Given the description of an element on the screen output the (x, y) to click on. 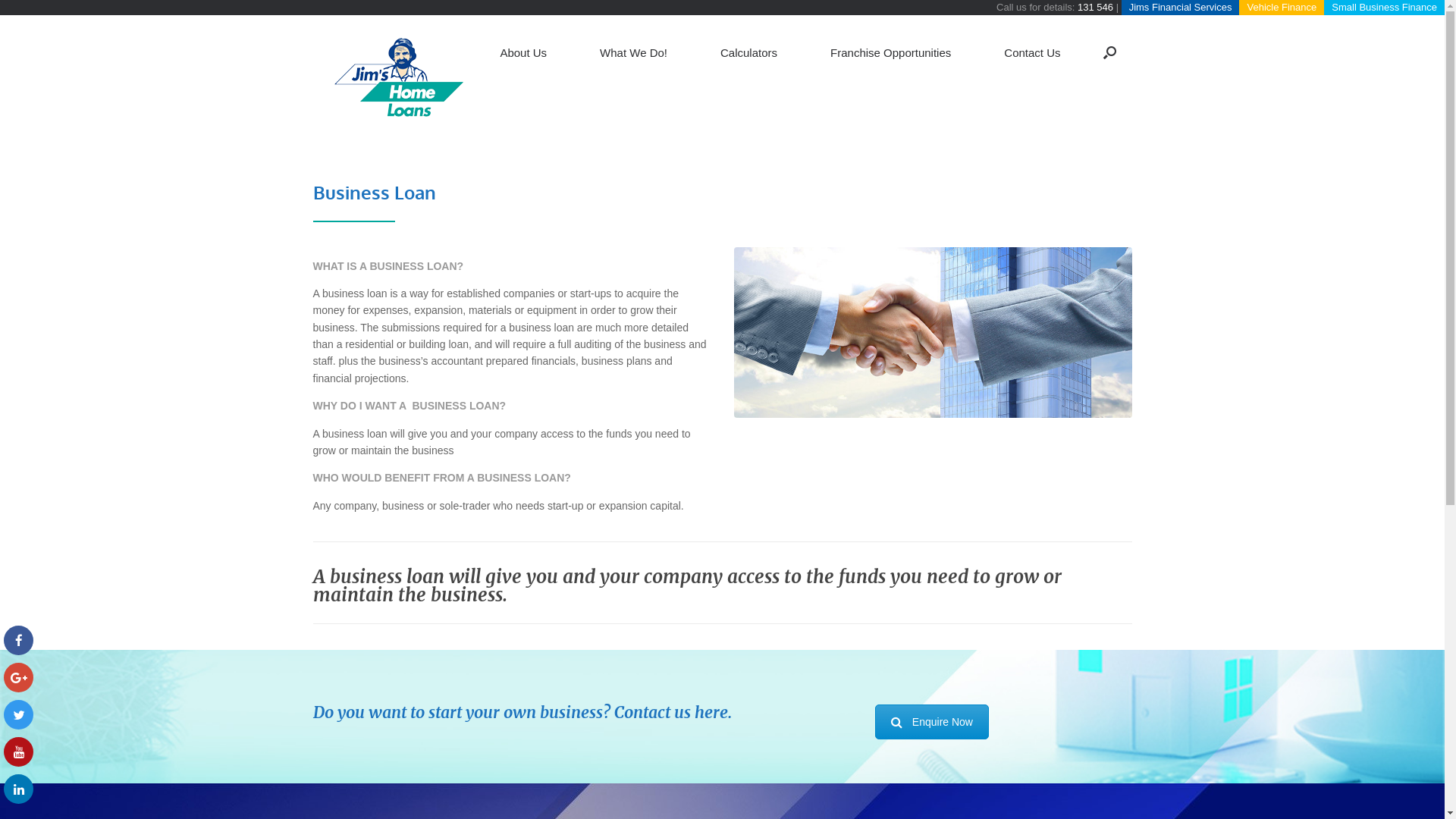
131 546 Element type: text (1095, 6)
Contact Us Element type: text (1031, 52)
About Us Element type: text (523, 52)
Vehicle Finance Element type: text (1281, 6)
Calculators Element type: text (748, 52)
Small Business Finance Element type: text (1384, 6)
Franchise Opportunities Element type: text (890, 52)
What We Do! Element type: text (633, 52)
Enquire Now Element type: text (931, 721)
Jims Financial Services Element type: text (1180, 6)
